Given the description of an element on the screen output the (x, y) to click on. 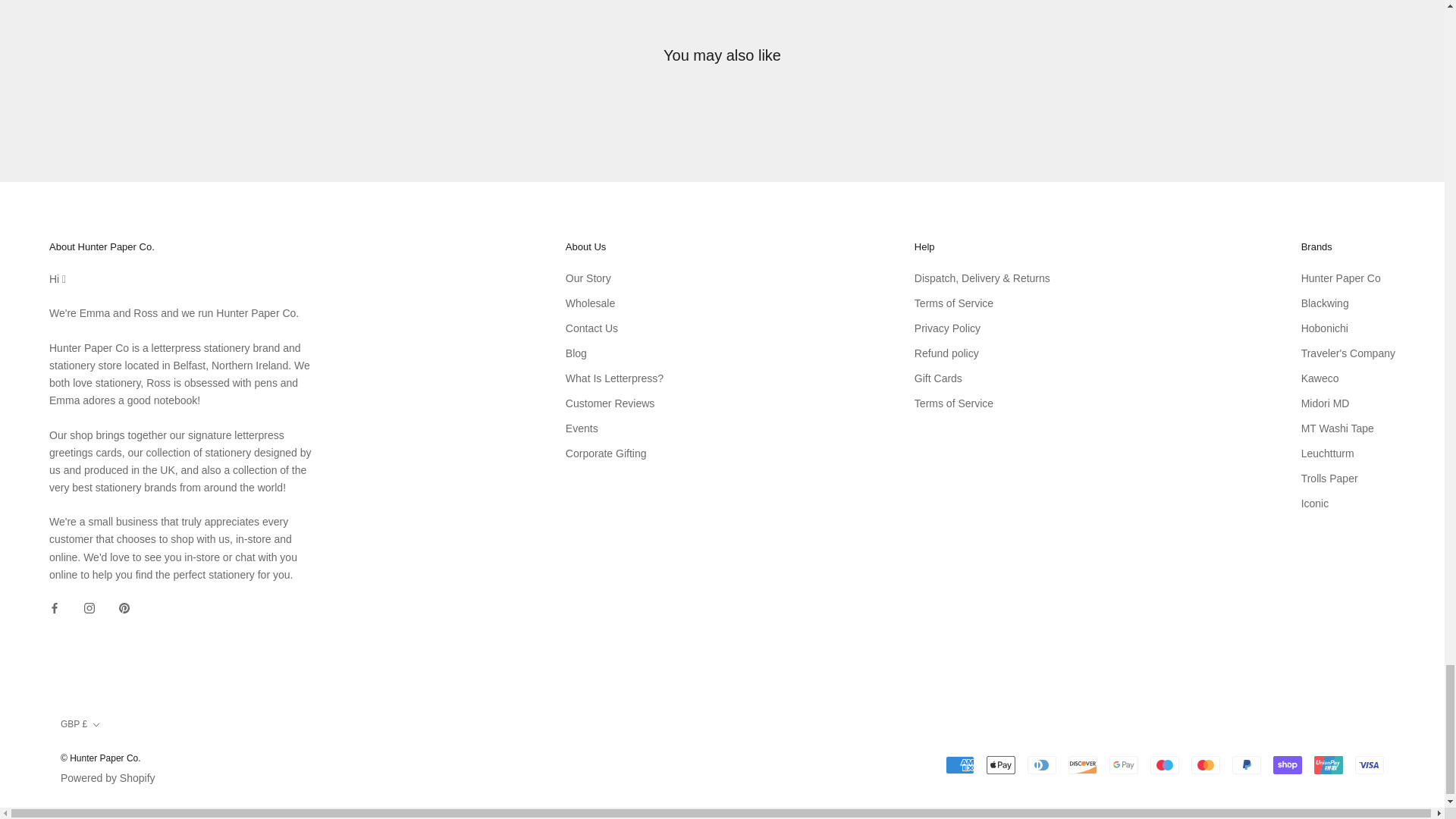
Shop Pay (1286, 764)
Diners Club (1042, 764)
Union Pay (1328, 764)
Discover (1082, 764)
Google Pay (1123, 764)
PayPal (1245, 764)
American Express (959, 764)
Visa (1369, 764)
Mastercard (1205, 764)
Maestro (1164, 764)
Apple Pay (1000, 764)
